Given the description of an element on the screen output the (x, y) to click on. 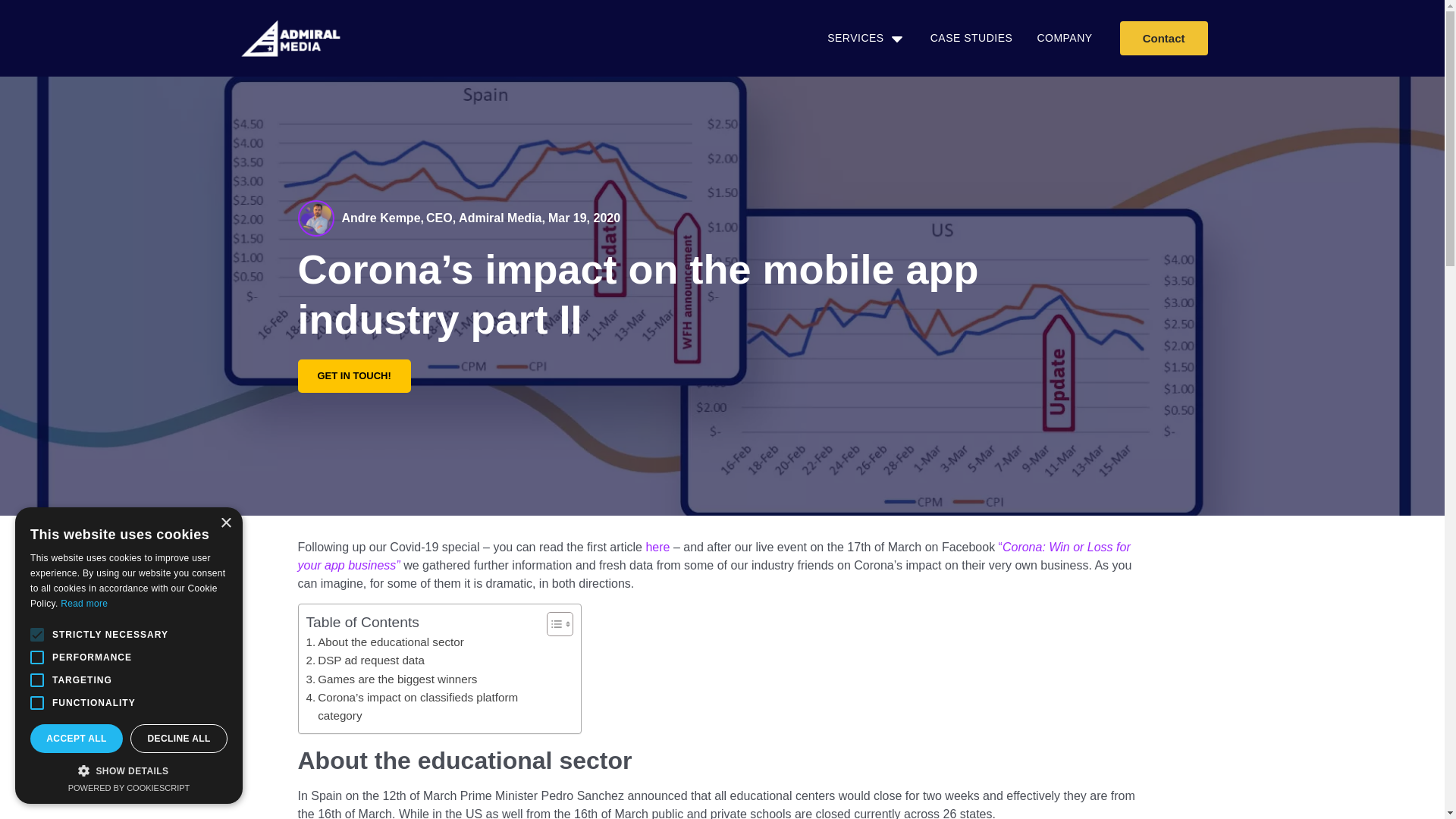
COMPANY (1064, 37)
DSP ad request data (365, 660)
Contact (1163, 38)
Games are the biggest winners (722, 217)
here (391, 679)
CASE STUDIES (657, 546)
About the educational sector (971, 37)
Consent Management Platform (384, 642)
SERVICES (129, 787)
GET IN TOUCH! (855, 37)
About the educational sector (353, 376)
